Given the description of an element on the screen output the (x, y) to click on. 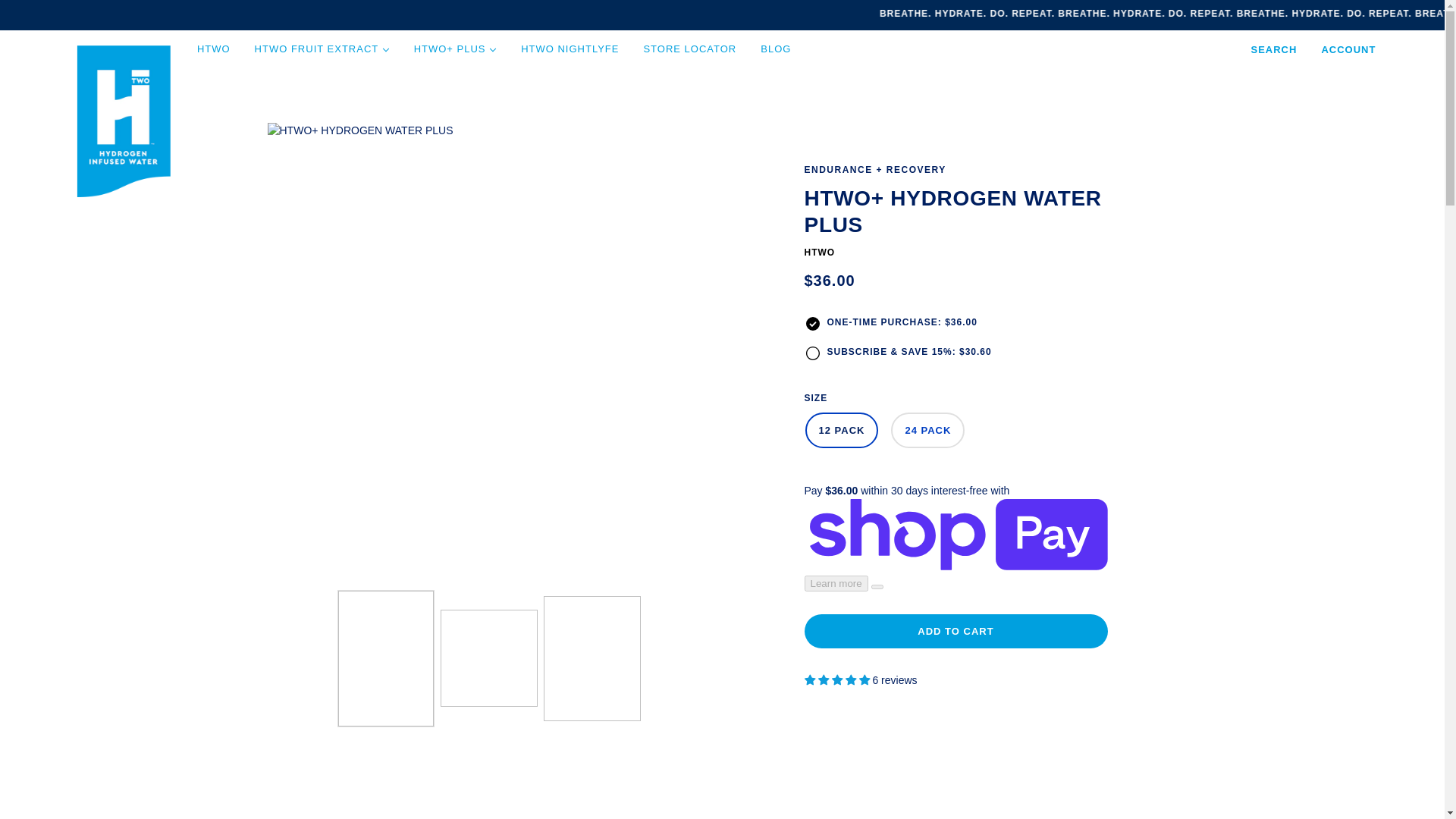
BLOG (775, 48)
STORE LOCATOR (689, 48)
HTWO (213, 48)
ACCOUNT (1347, 48)
HTWO FRUIT EXTRACT (322, 48)
HTWO (819, 251)
ADD TO CART (954, 631)
HTWO NIGHTLYFE (569, 48)
HTWO (91, 121)
SEARCH (1273, 48)
